Given the description of an element on the screen output the (x, y) to click on. 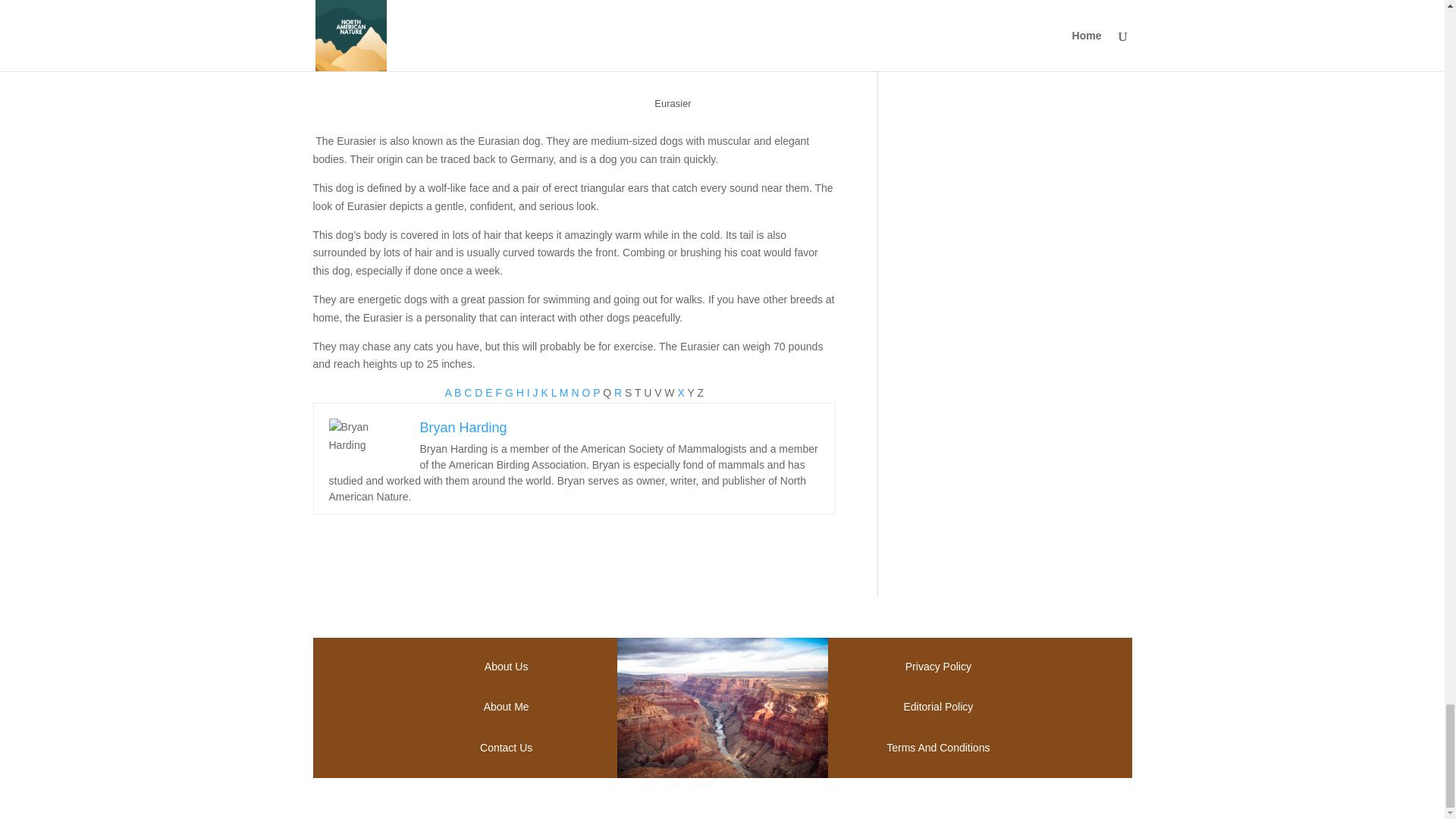
M (565, 392)
Bryan Harding (463, 427)
G (510, 392)
